Given the description of an element on the screen output the (x, y) to click on. 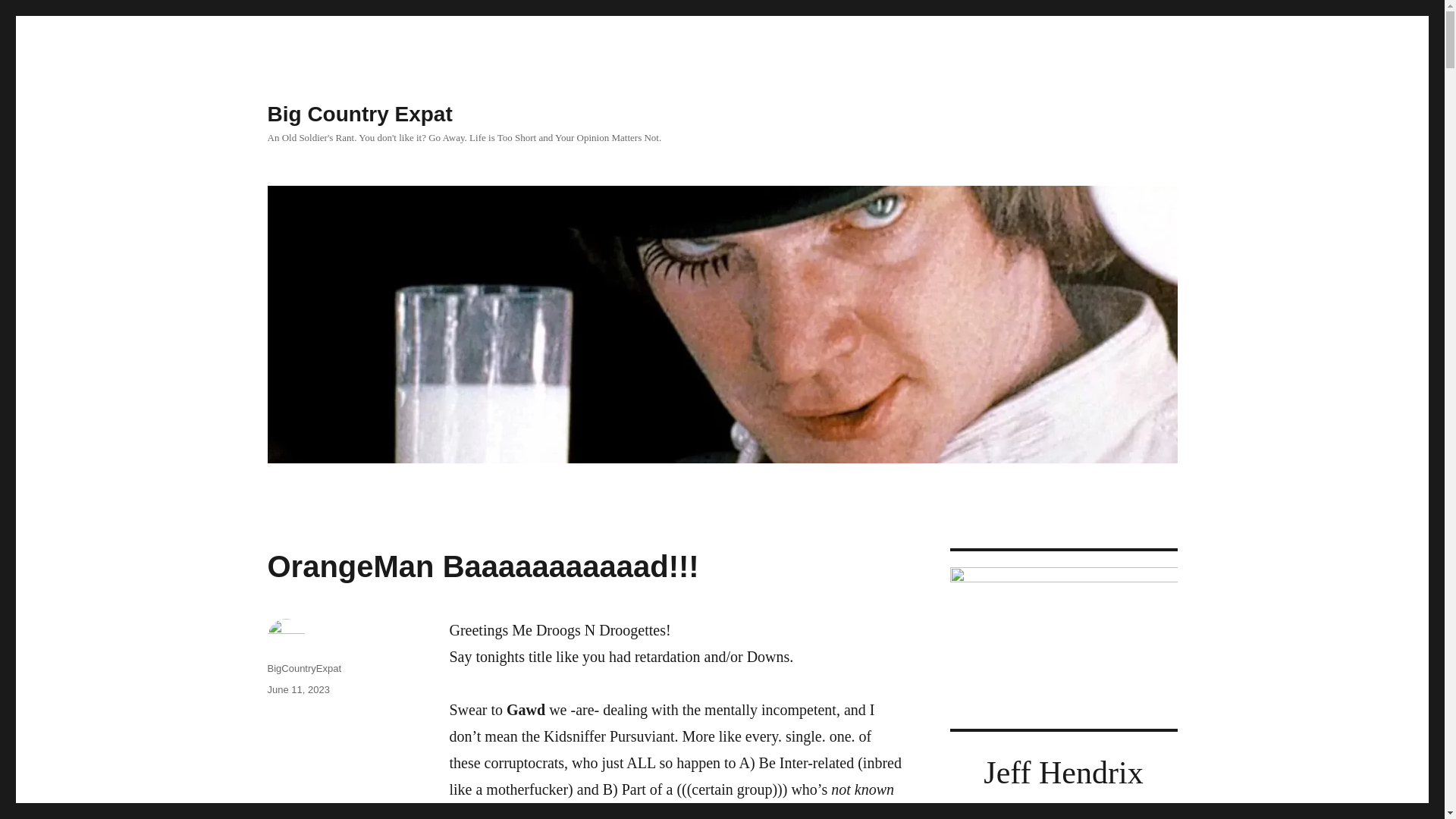
Big Country Expat (358, 114)
June 11, 2023 (297, 689)
BigCountryExpat (303, 668)
